Given the description of an element on the screen output the (x, y) to click on. 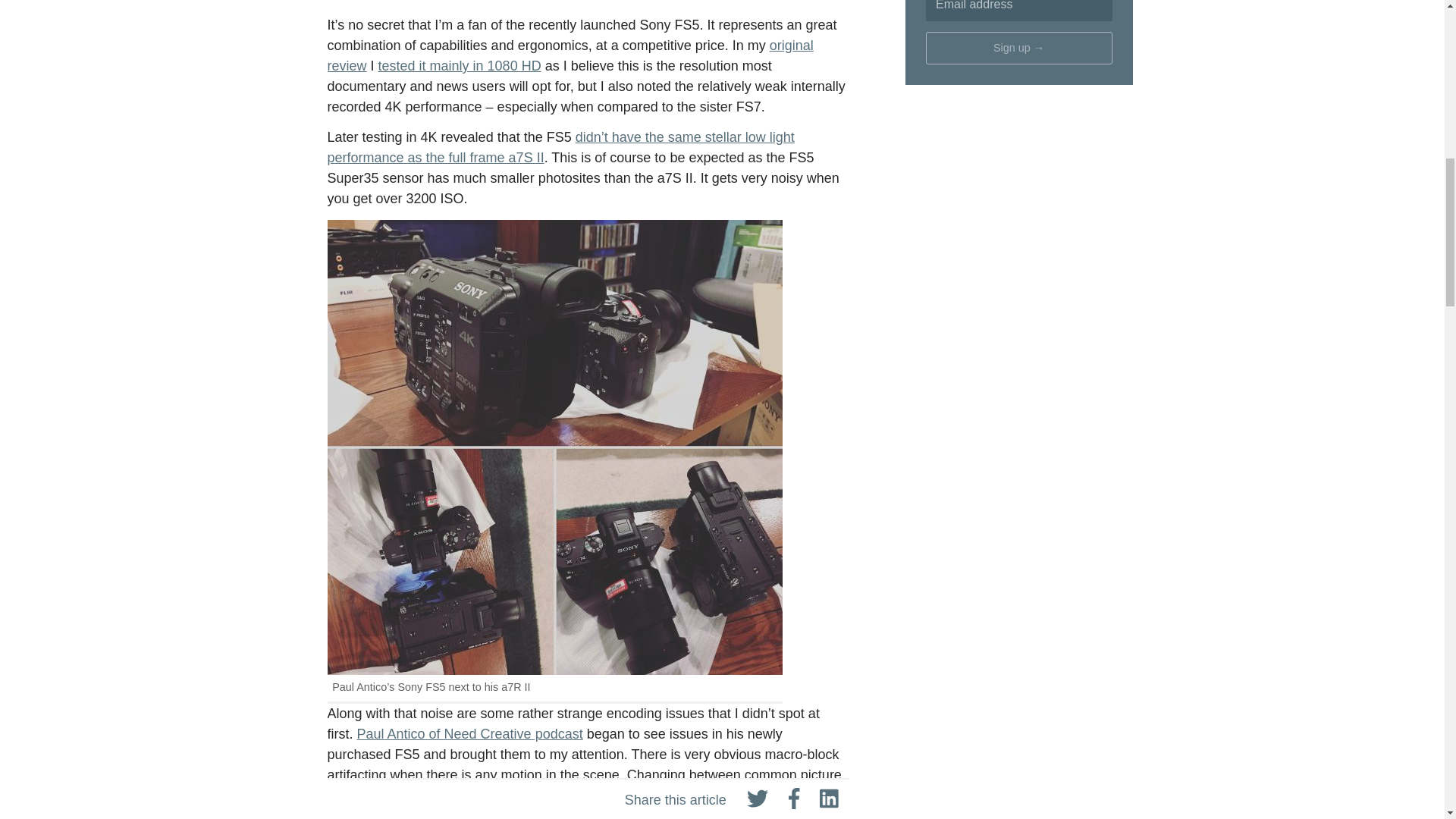
original review (570, 55)
3rd party ad content (1018, 199)
Paul Antico of Need Creative podcast (469, 734)
3rd party ad content (1018, 410)
3rd party ad content (1018, 619)
3rd party ad content (1018, 777)
tested it mainly in 1080 HD (459, 65)
